Given the description of an element on the screen output the (x, y) to click on. 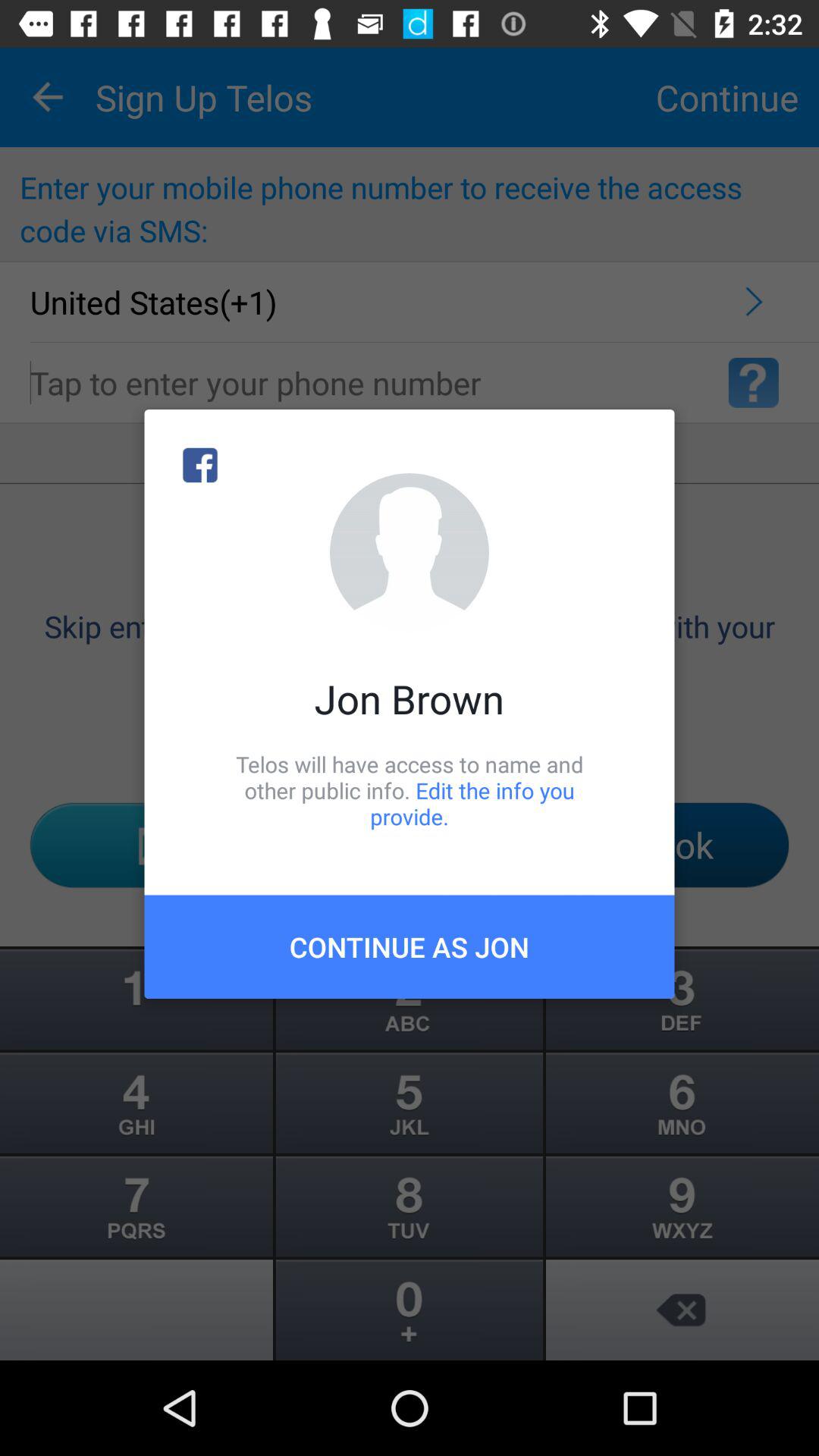
scroll to the continue as jon (409, 946)
